Given the description of an element on the screen output the (x, y) to click on. 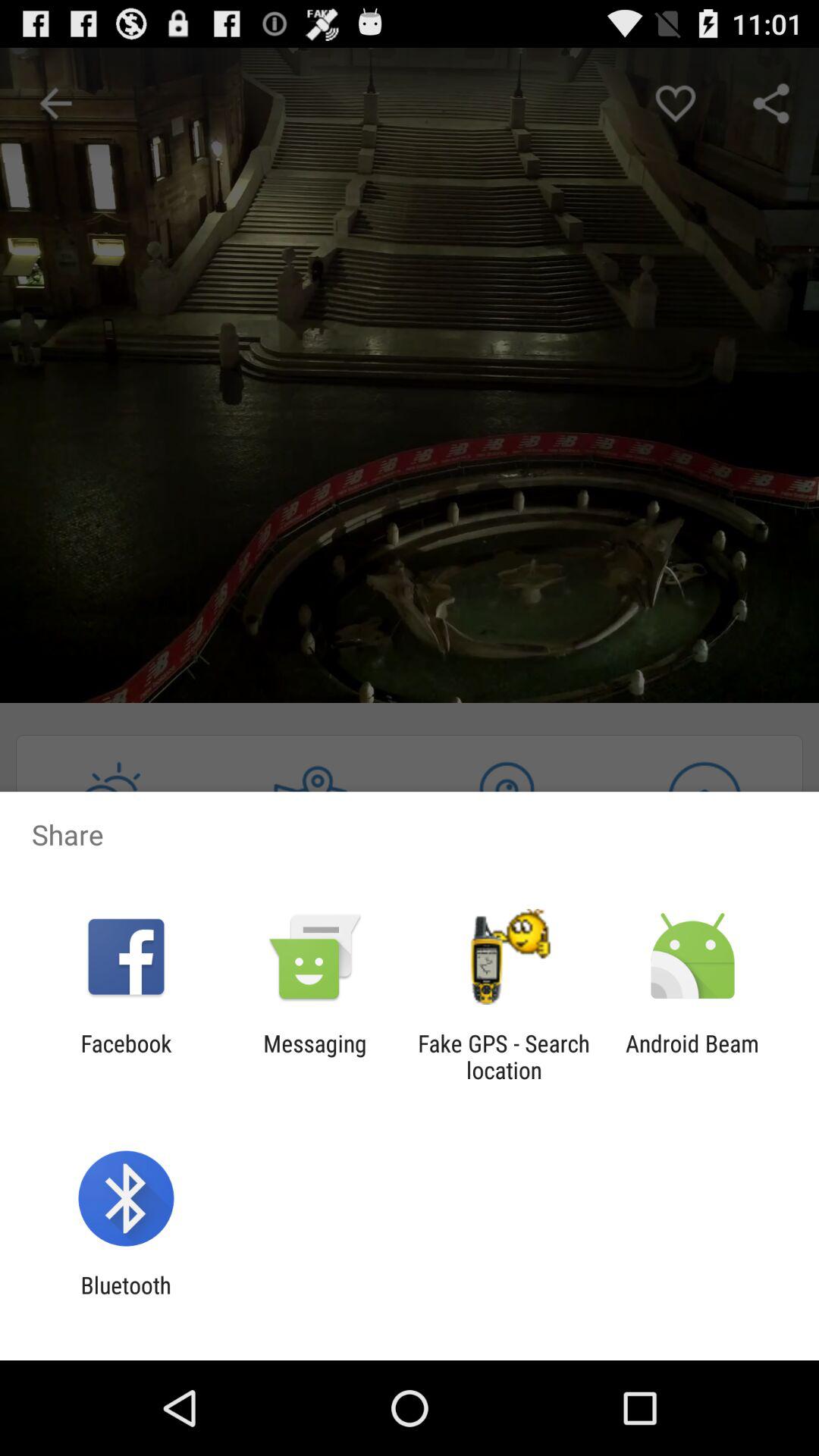
open the fake gps search app (503, 1056)
